Given the description of an element on the screen output the (x, y) to click on. 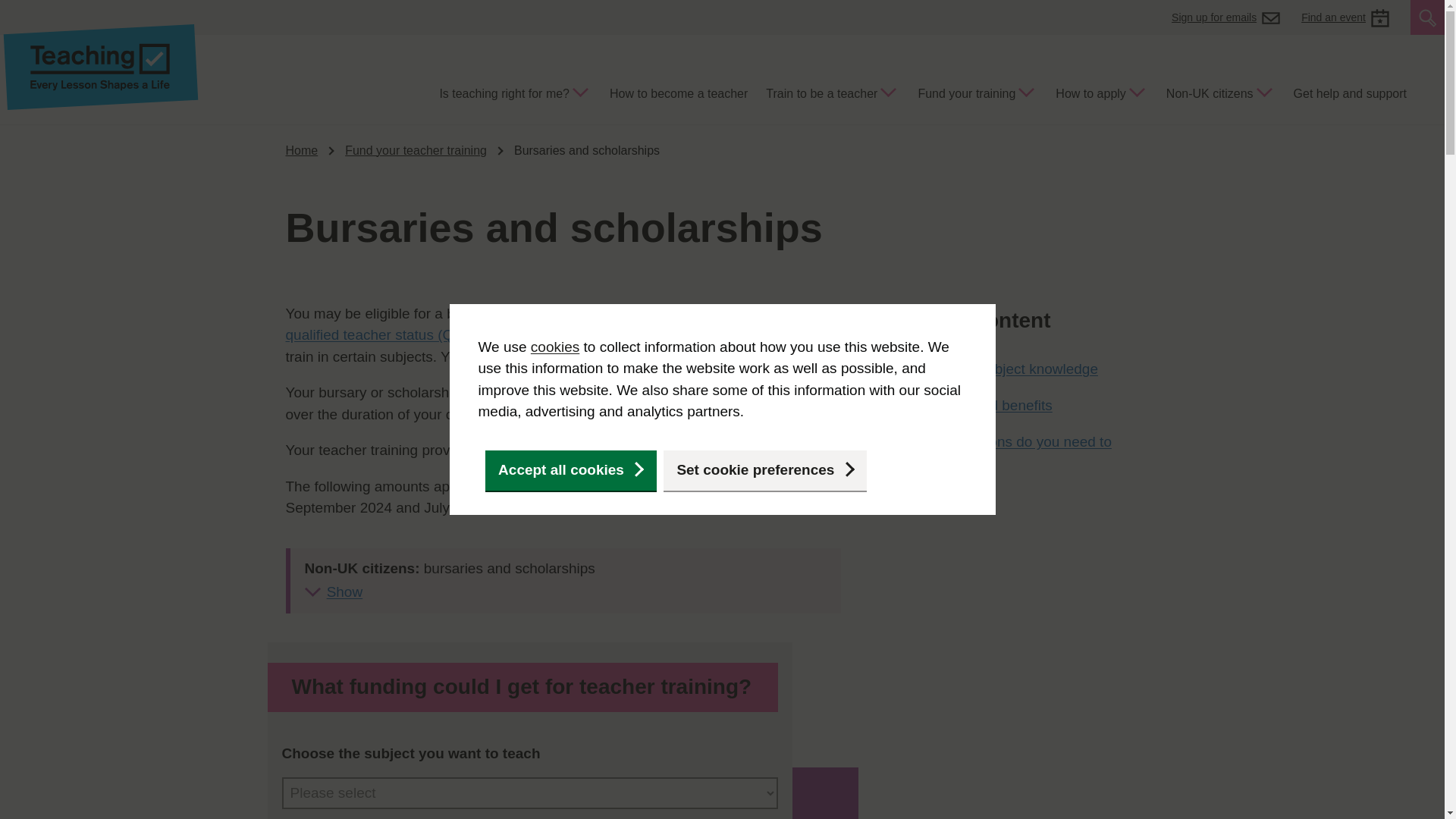
Find an event (1344, 17)
How to become a teacher (678, 95)
Fund your training (977, 95)
Is teaching right for me? (514, 95)
Sign up for emails (1225, 17)
Train to be a teacher (832, 95)
